Given the description of an element on the screen output the (x, y) to click on. 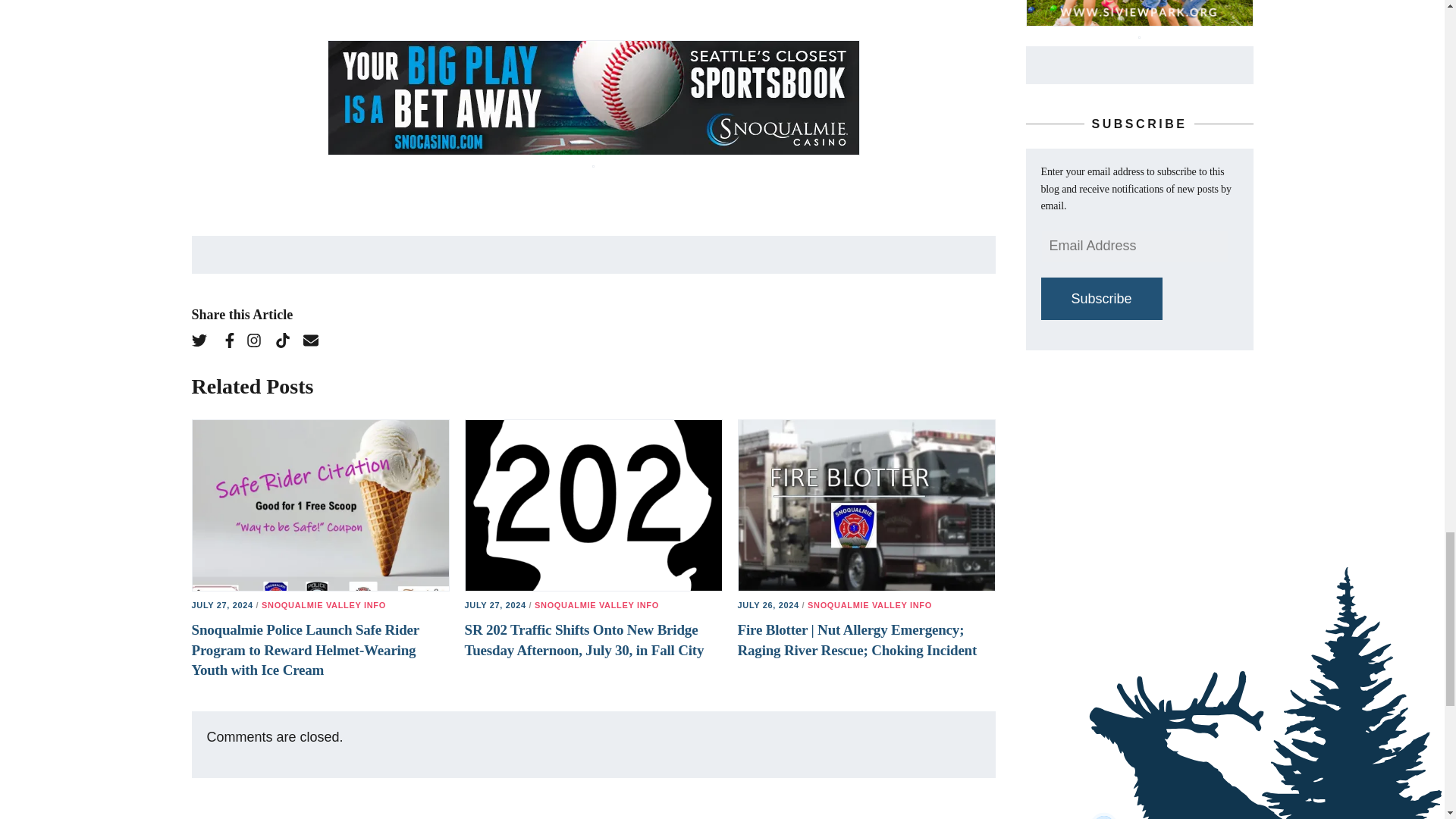
SNOQUALMIE VALLEY INFO (323, 604)
Email (316, 343)
Instagram (258, 343)
TikTok (287, 343)
Facebook (232, 343)
Twitter (203, 343)
